Given the description of an element on the screen output the (x, y) to click on. 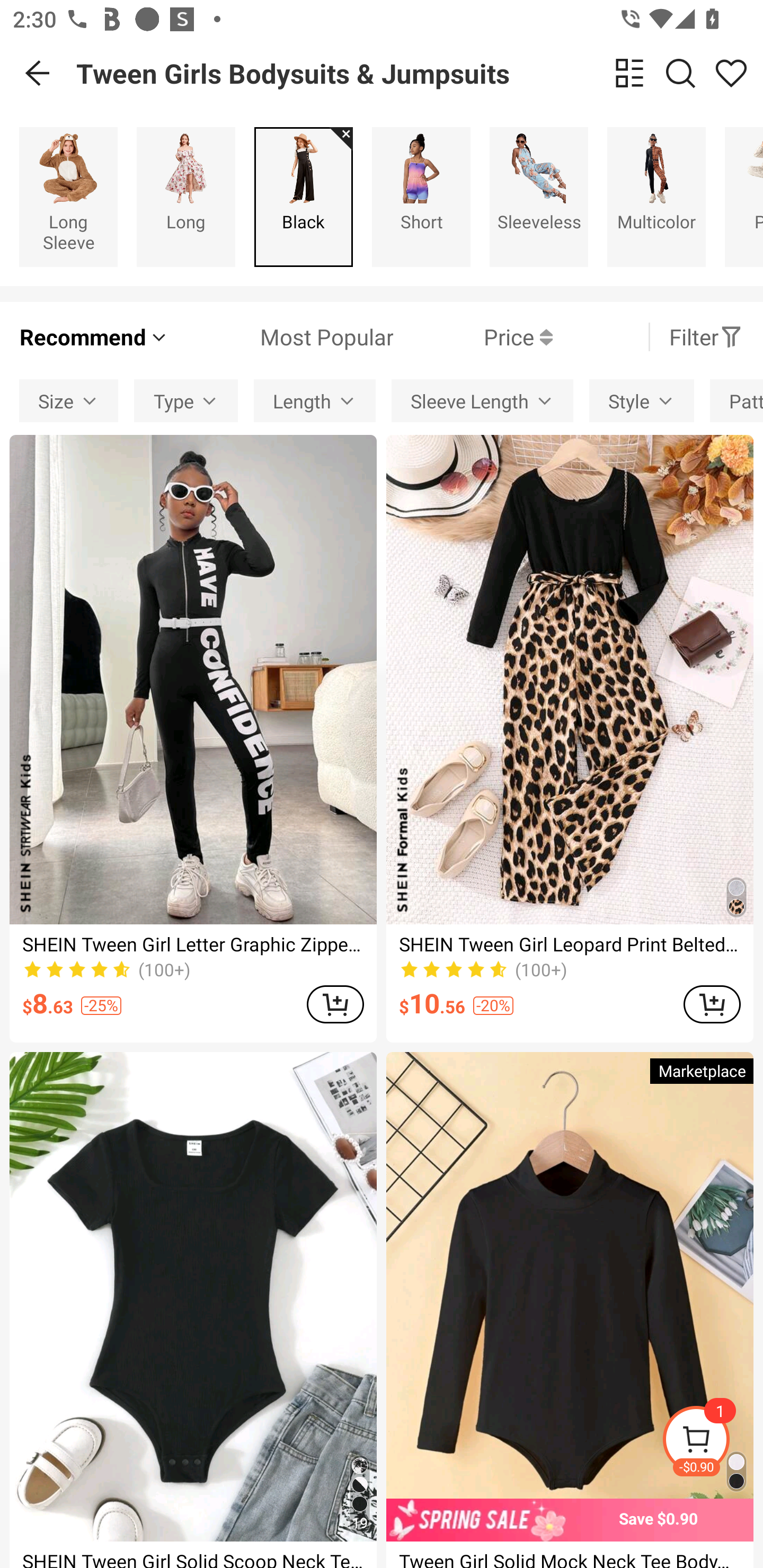
change view (629, 72)
Search (679, 72)
Share (730, 72)
Long Sleeve (68, 196)
Long (185, 196)
Black (303, 196)
Short (421, 196)
Sleeveless (538, 196)
Multicolor (656, 196)
Recommend (94, 336)
Most Popular (280, 336)
Price (472, 336)
Filter (705, 336)
Size (68, 400)
Type (186, 400)
Length (314, 400)
Sleeve Length (482, 400)
Style (641, 400)
ADD TO CART (334, 1003)
ADD TO CART (711, 1003)
-$0.90 (712, 1441)
